Given the description of an element on the screen output the (x, y) to click on. 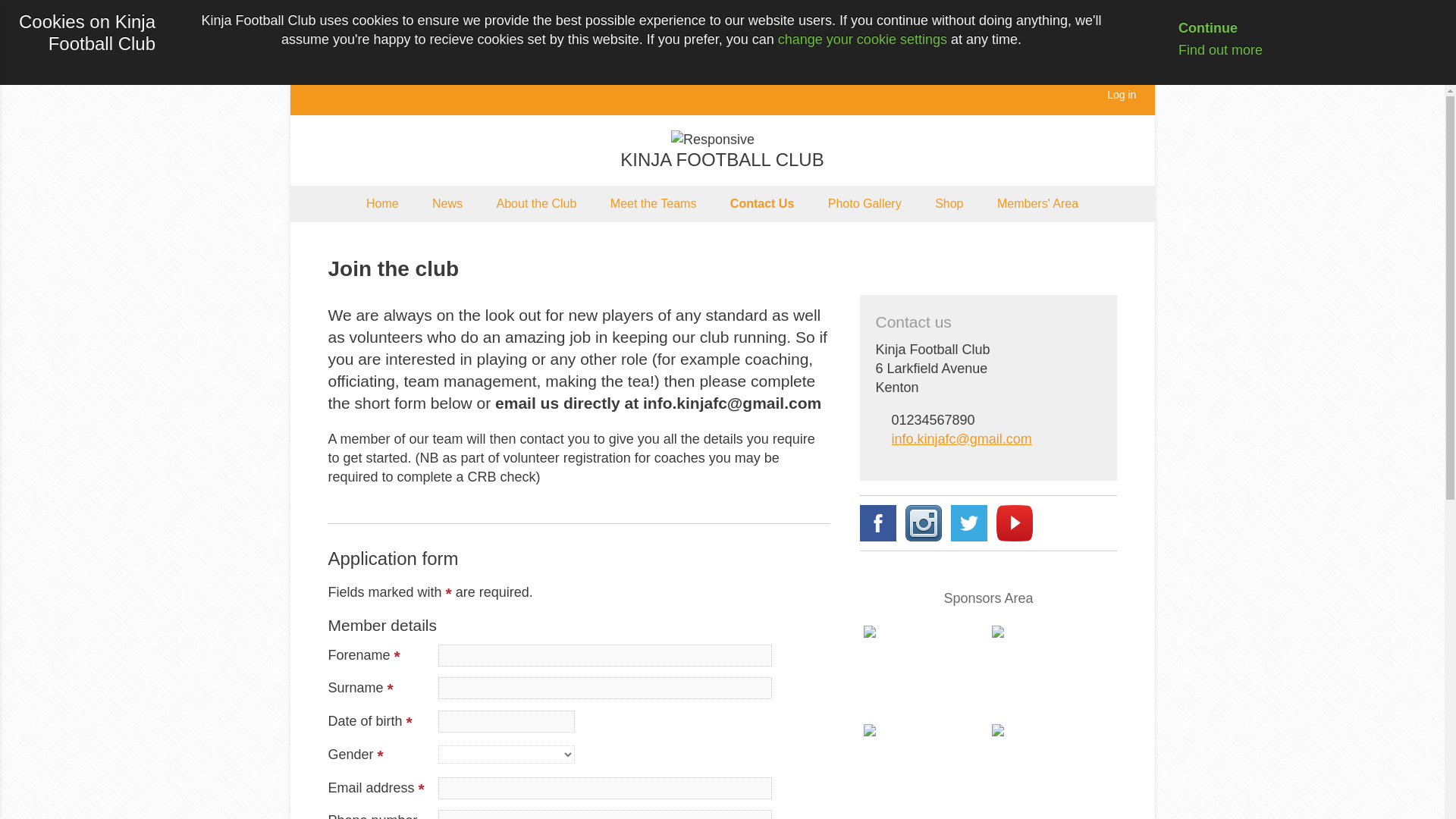
Follow us on Twitter (968, 523)
Follow us on Instagram (923, 523)
change your cookie settings (862, 38)
Find out more (1208, 49)
Follow us on Facebook (878, 523)
Subscribe to our YouTube channel (1013, 523)
Continue (1195, 28)
